Given the description of an element on the screen output the (x, y) to click on. 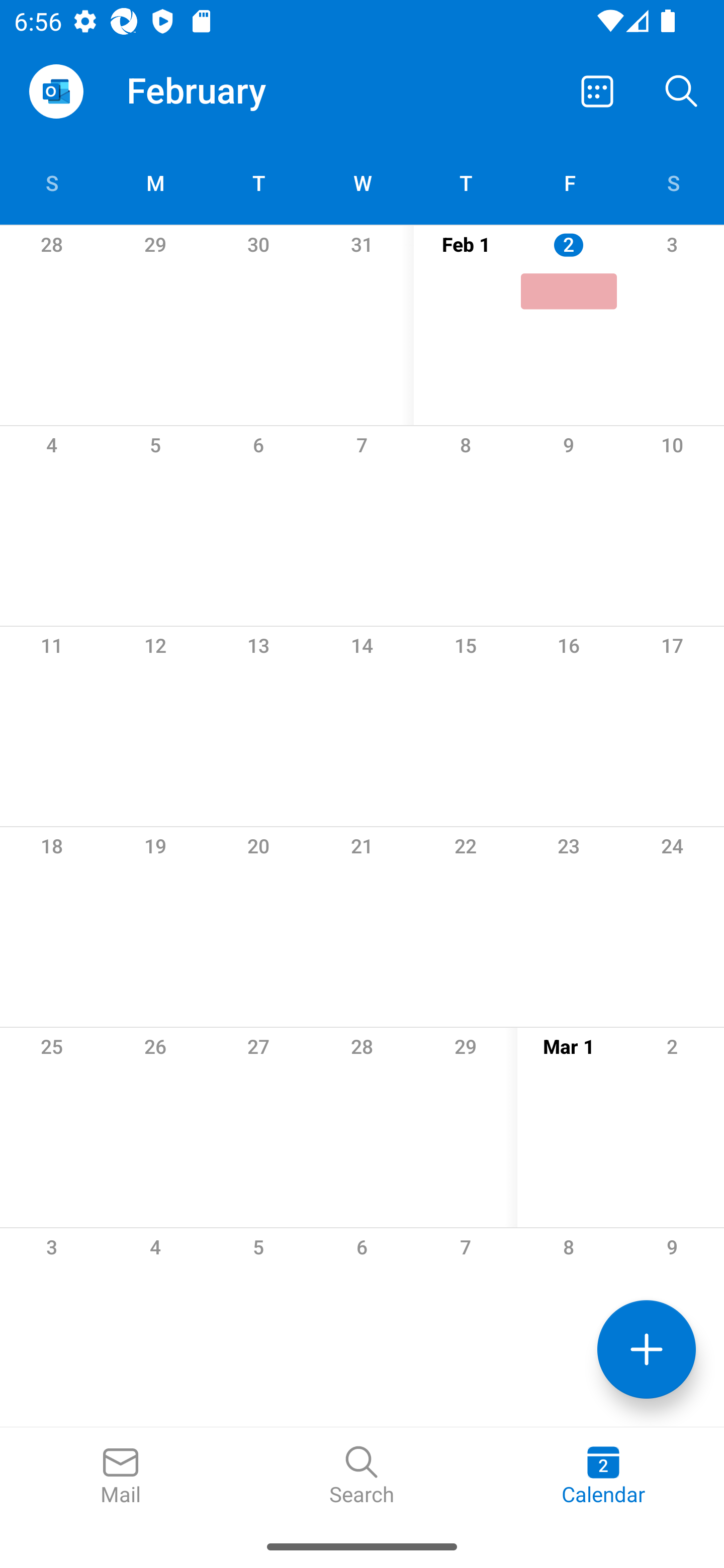
February February 2024, day picker expand (209, 90)
Switch away from Month view (597, 90)
Search (681, 90)
Open Navigation Drawer (55, 91)
Add new event (646, 1348)
Mail (120, 1475)
Search (361, 1475)
